Given the description of an element on the screen output the (x, y) to click on. 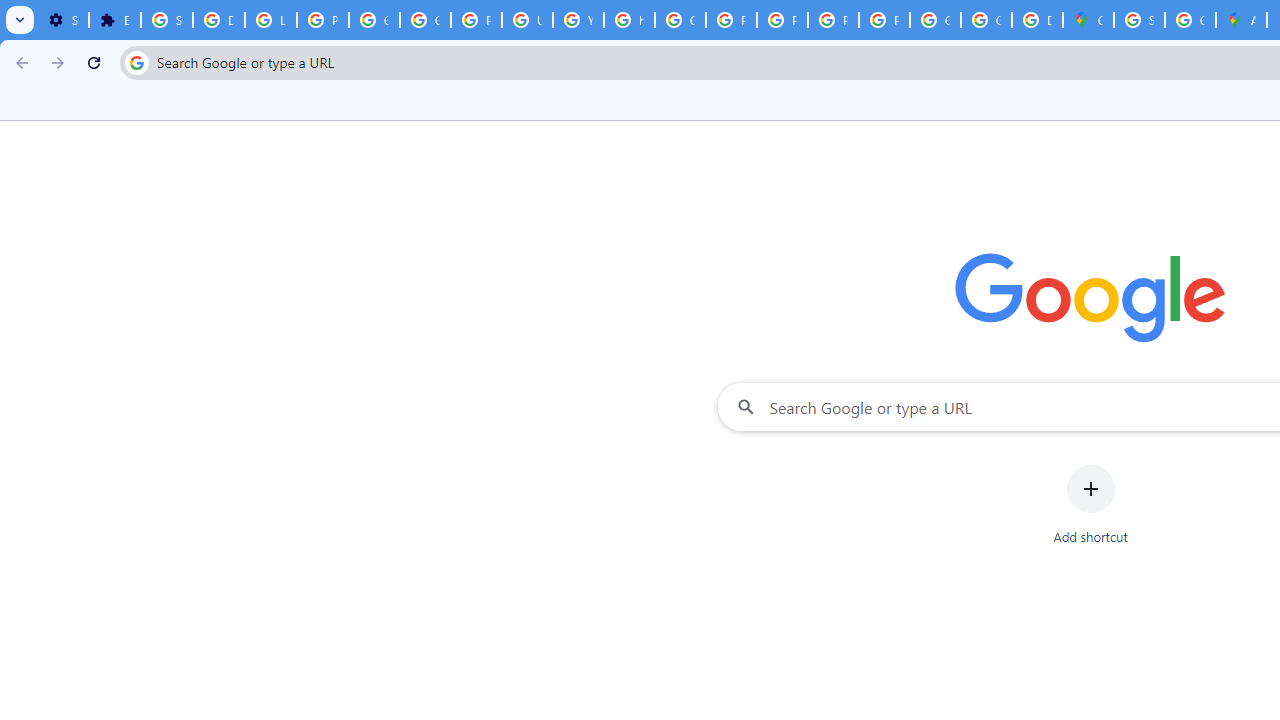
Add shortcut (1090, 504)
Google Maps (1087, 20)
Sign in - Google Accounts (166, 20)
Extensions (114, 20)
Learn how to find your photos - Google Photos Help (270, 20)
